Given the description of an element on the screen output the (x, y) to click on. 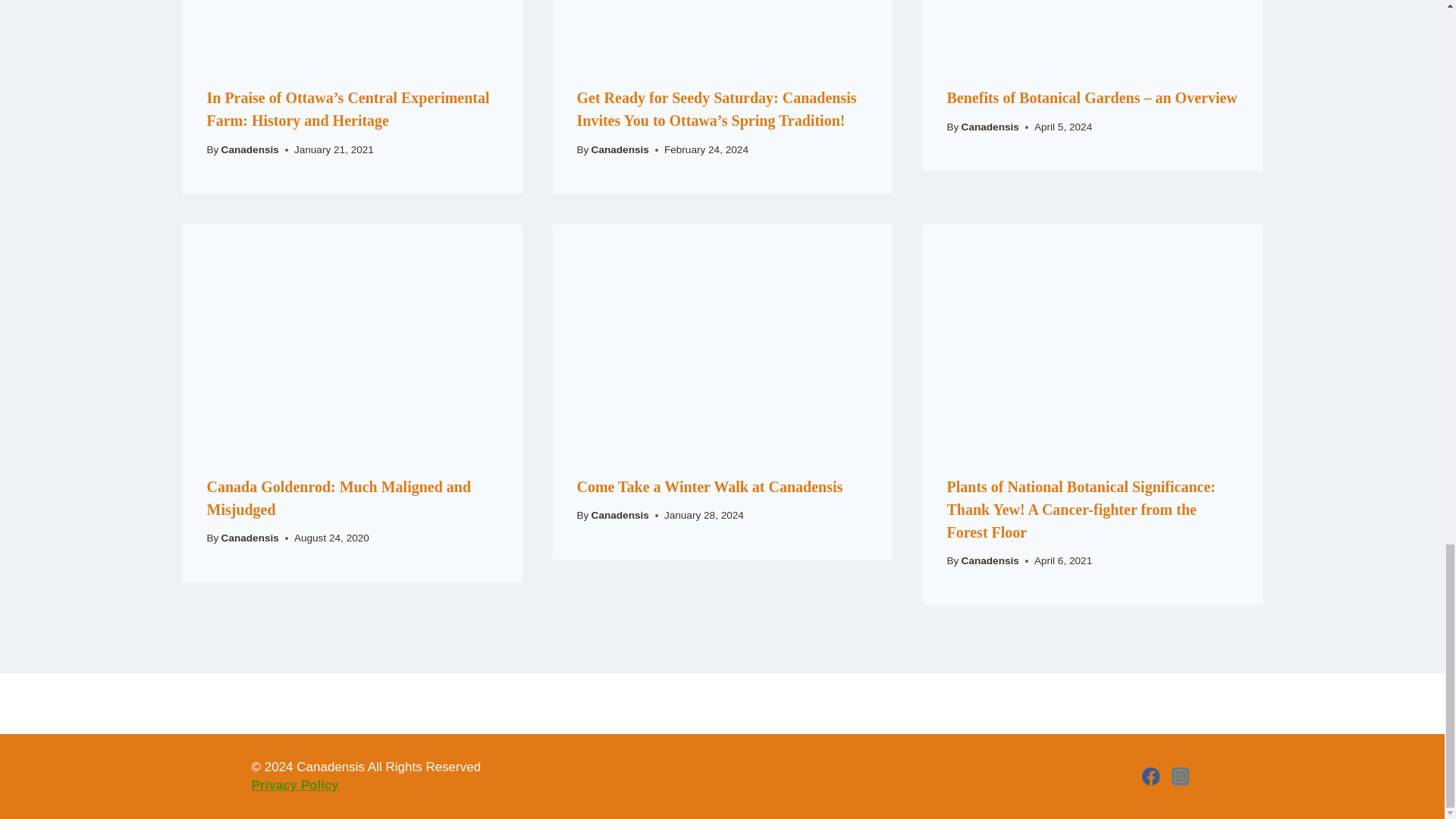
Canadensis (250, 149)
